Given the description of an element on the screen output the (x, y) to click on. 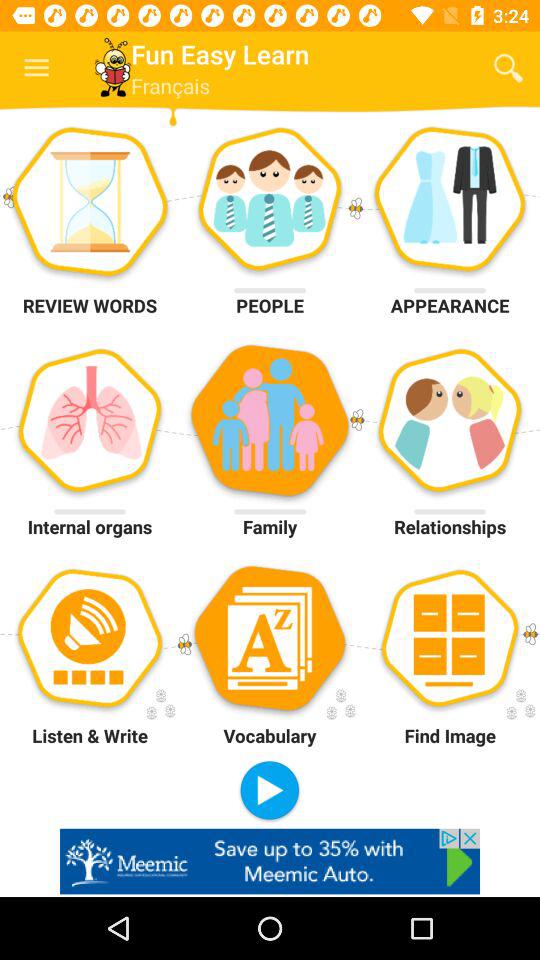
add the option (270, 861)
